Given the description of an element on the screen output the (x, y) to click on. 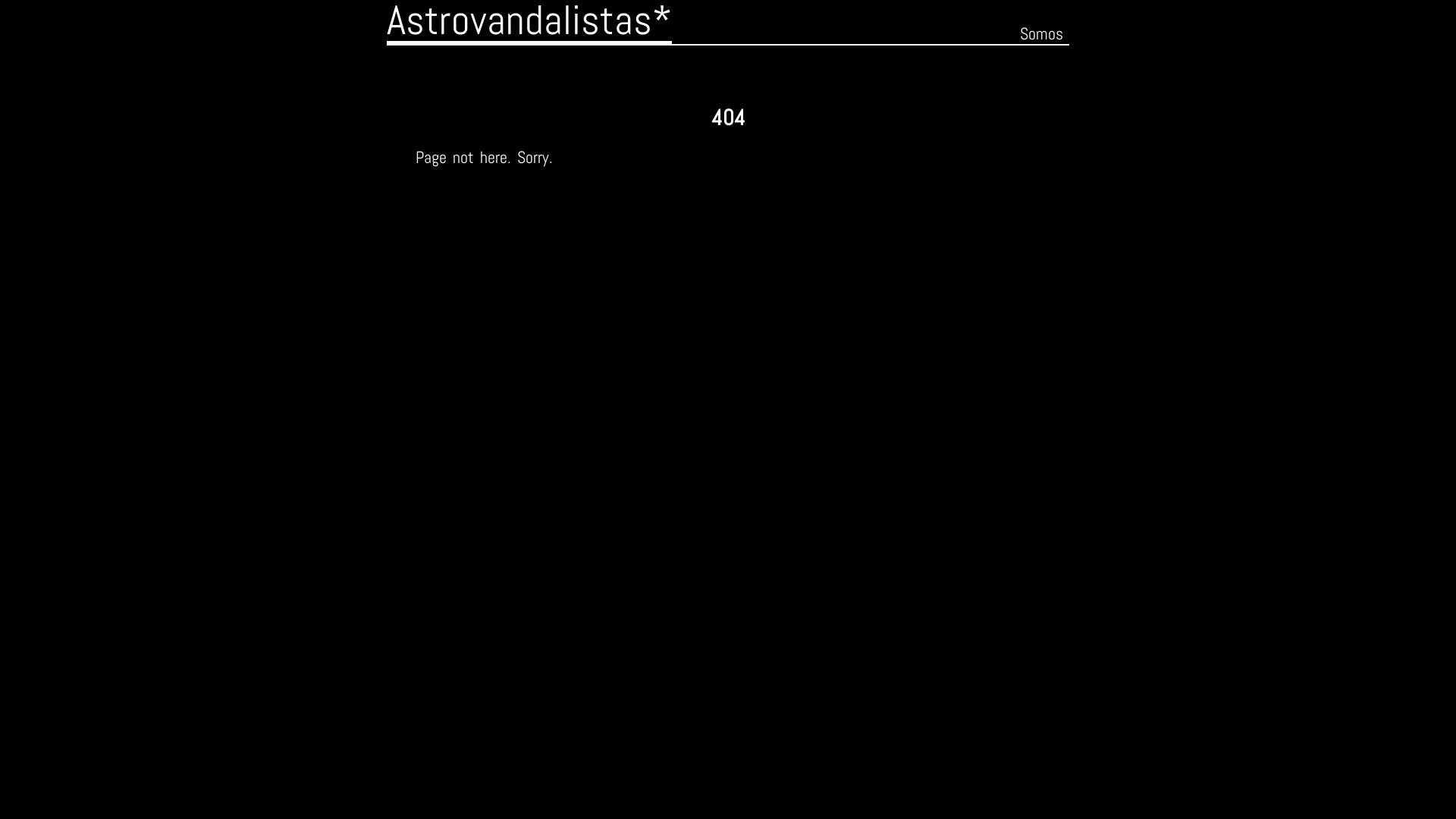
Somos Element type: text (1041, 33)
Astrovandalistas* Element type: text (528, 21)
